Given the description of an element on the screen output the (x, y) to click on. 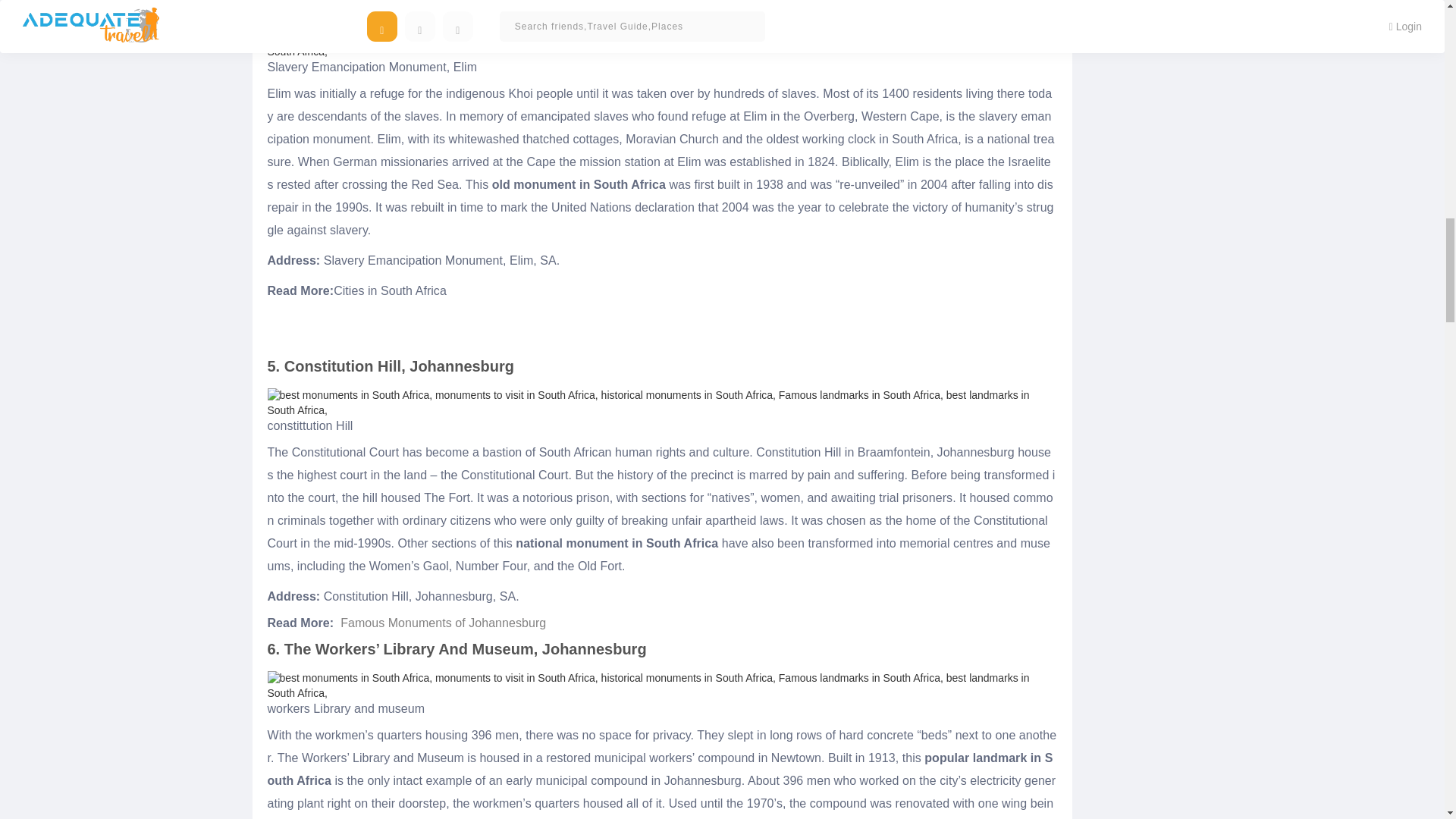
Famous Monuments of Johannesburg (443, 622)
Cities in South Africa (389, 290)
